Given the description of an element on the screen output the (x, y) to click on. 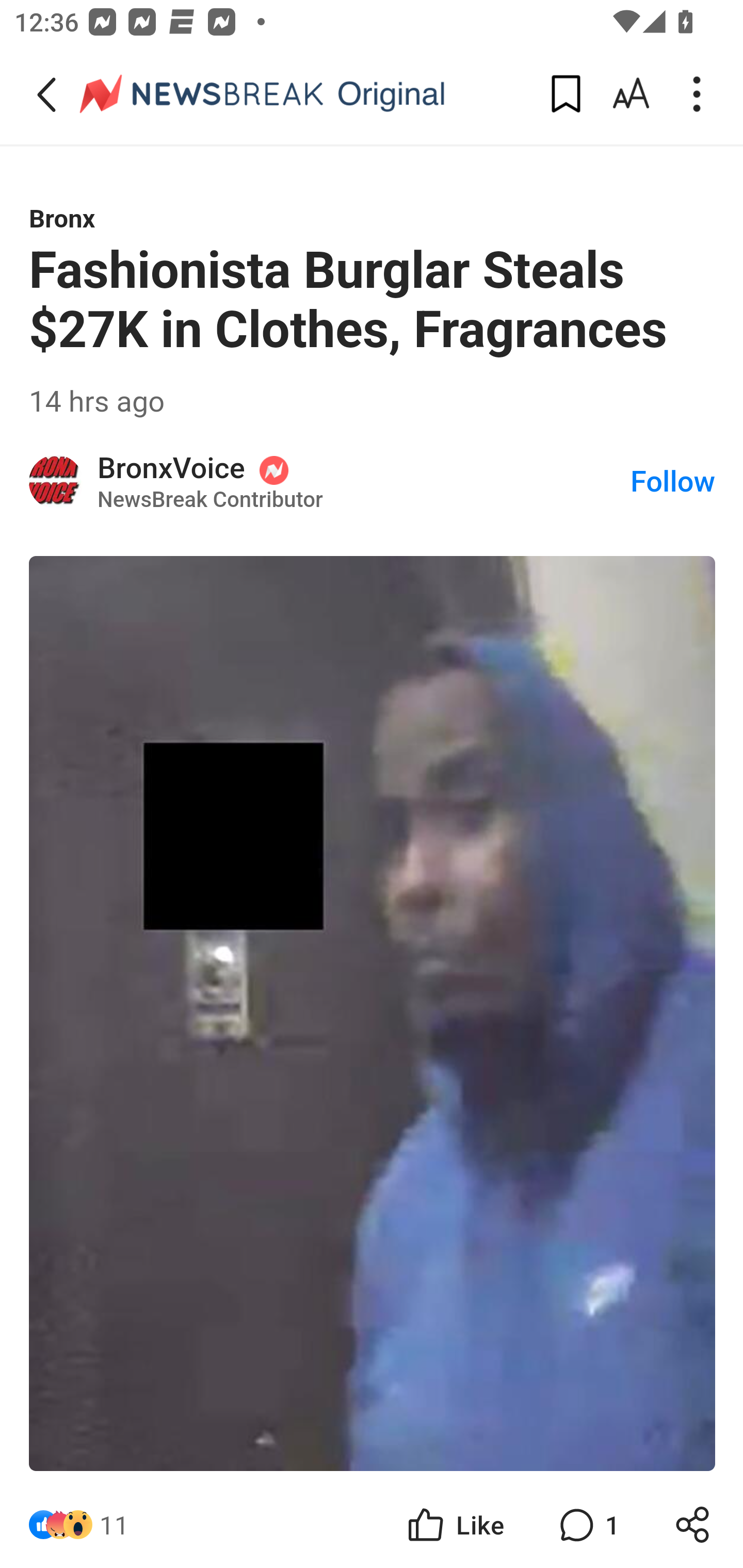
BronxVoice  NewsBreak Contributor (364, 481)
BronxVoice (56, 481)
Follow (673, 482)
11 (114, 1524)
Like (454, 1524)
1 (587, 1524)
